Given the description of an element on the screen output the (x, y) to click on. 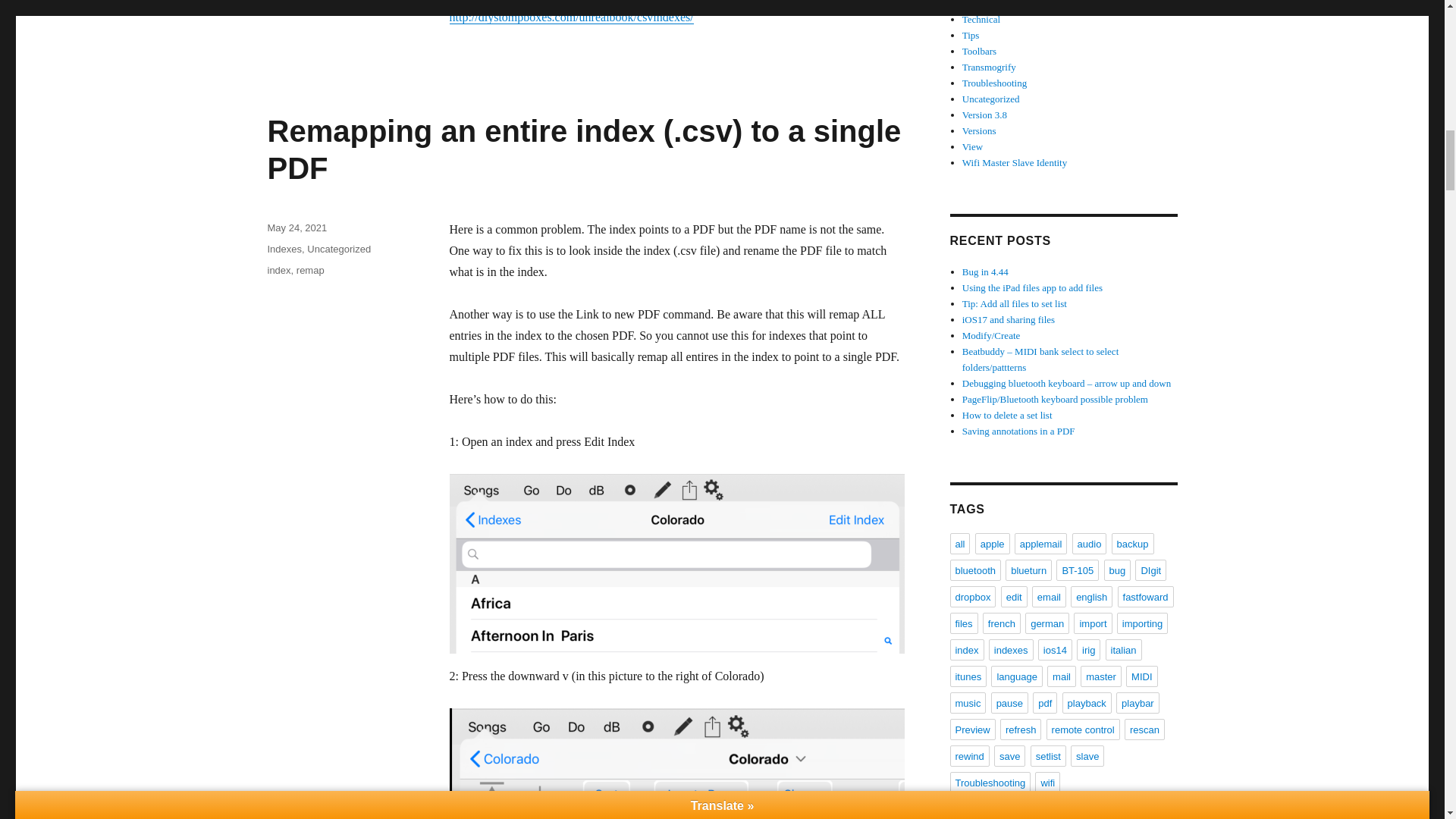
Uncategorized (339, 248)
index (277, 270)
Indexes (283, 248)
May 24, 2021 (296, 227)
remap (310, 270)
